Given the description of an element on the screen output the (x, y) to click on. 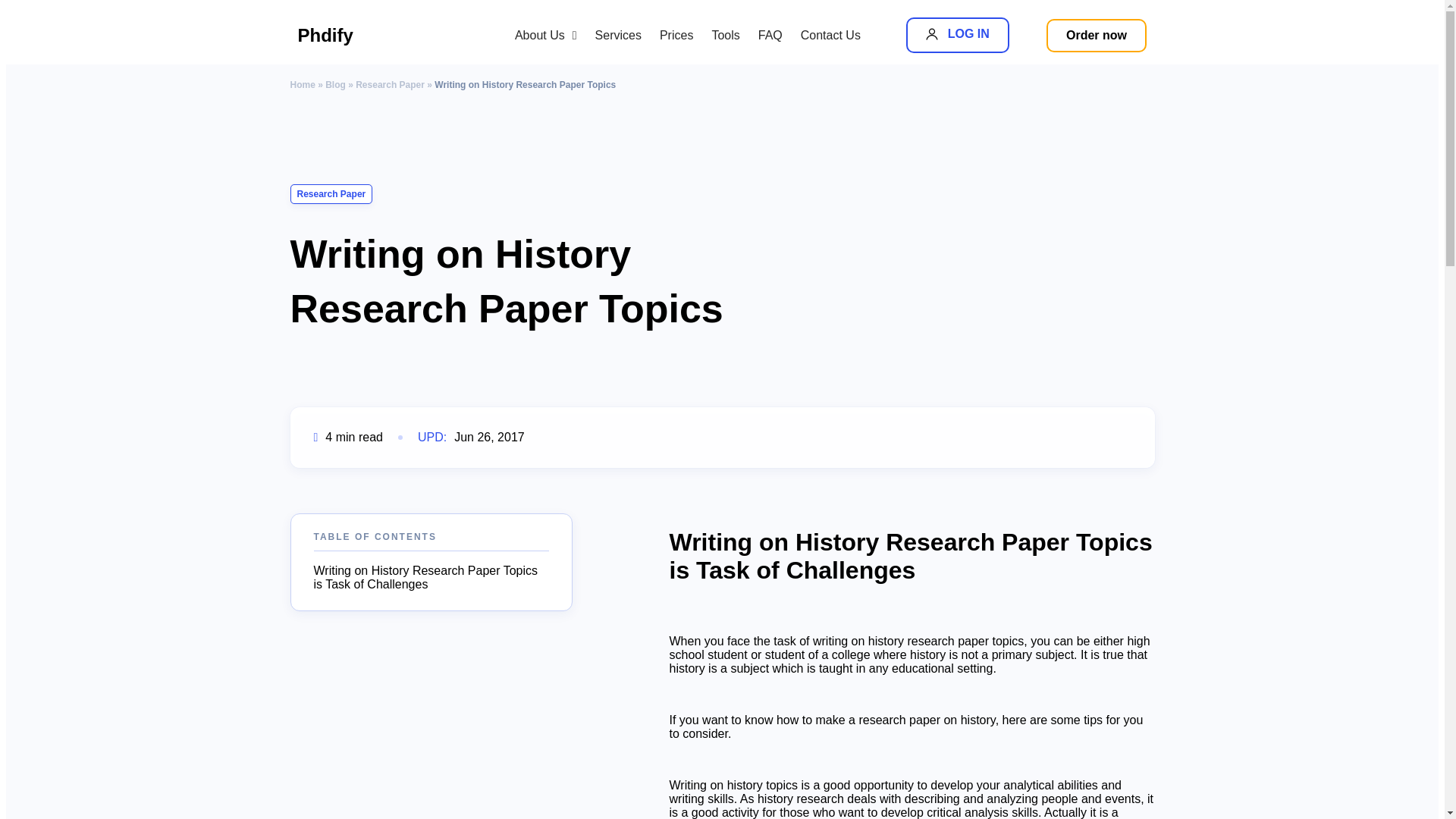
Phdify (366, 34)
user (957, 35)
Services (931, 33)
About Us (618, 35)
Contact Us (545, 35)
Prices (830, 35)
Order now (675, 35)
FAQ (1096, 34)
Tools (770, 35)
